Given the description of an element on the screen output the (x, y) to click on. 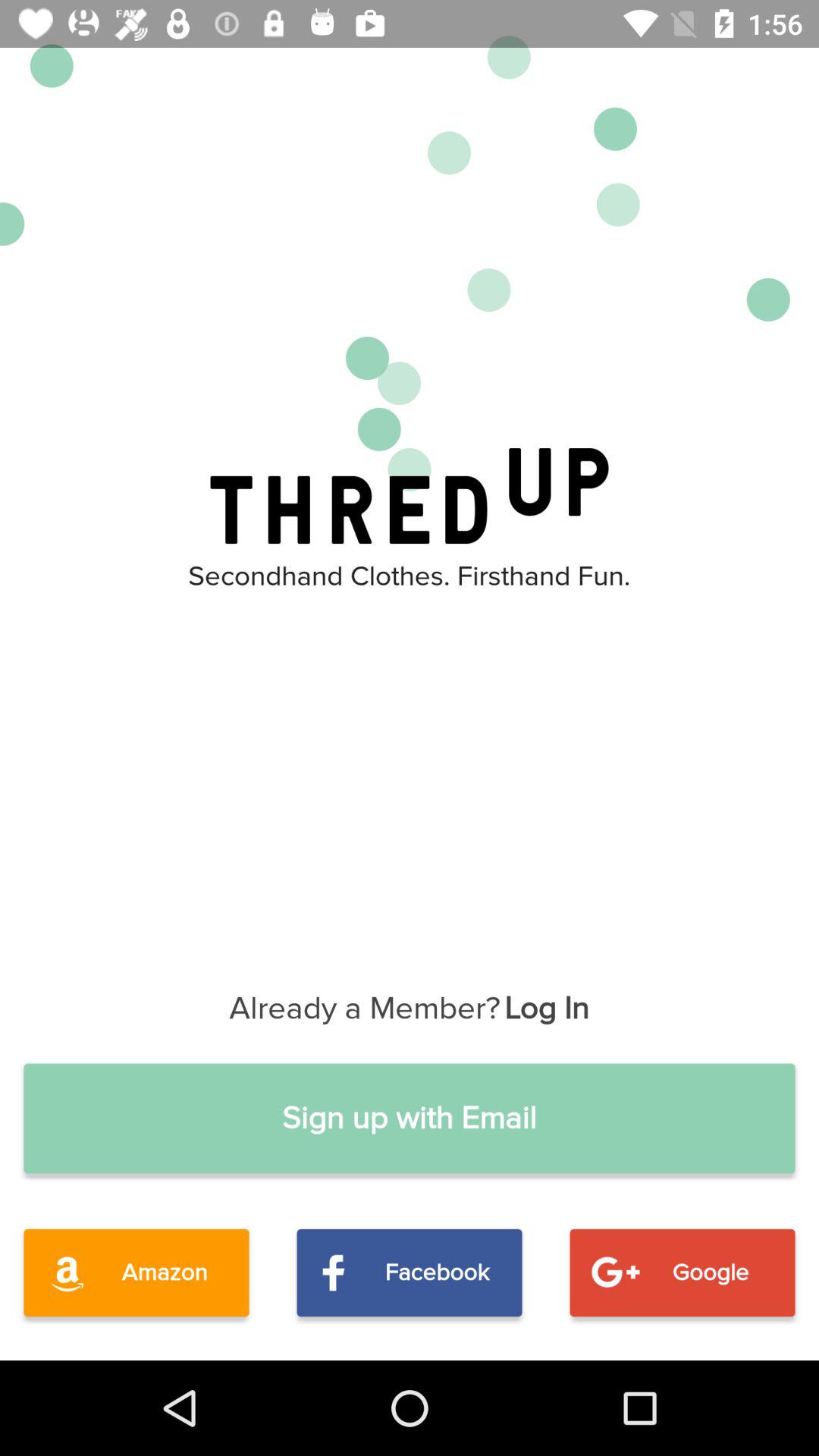
launch facebook item (409, 1272)
